Given the description of an element on the screen output the (x, y) to click on. 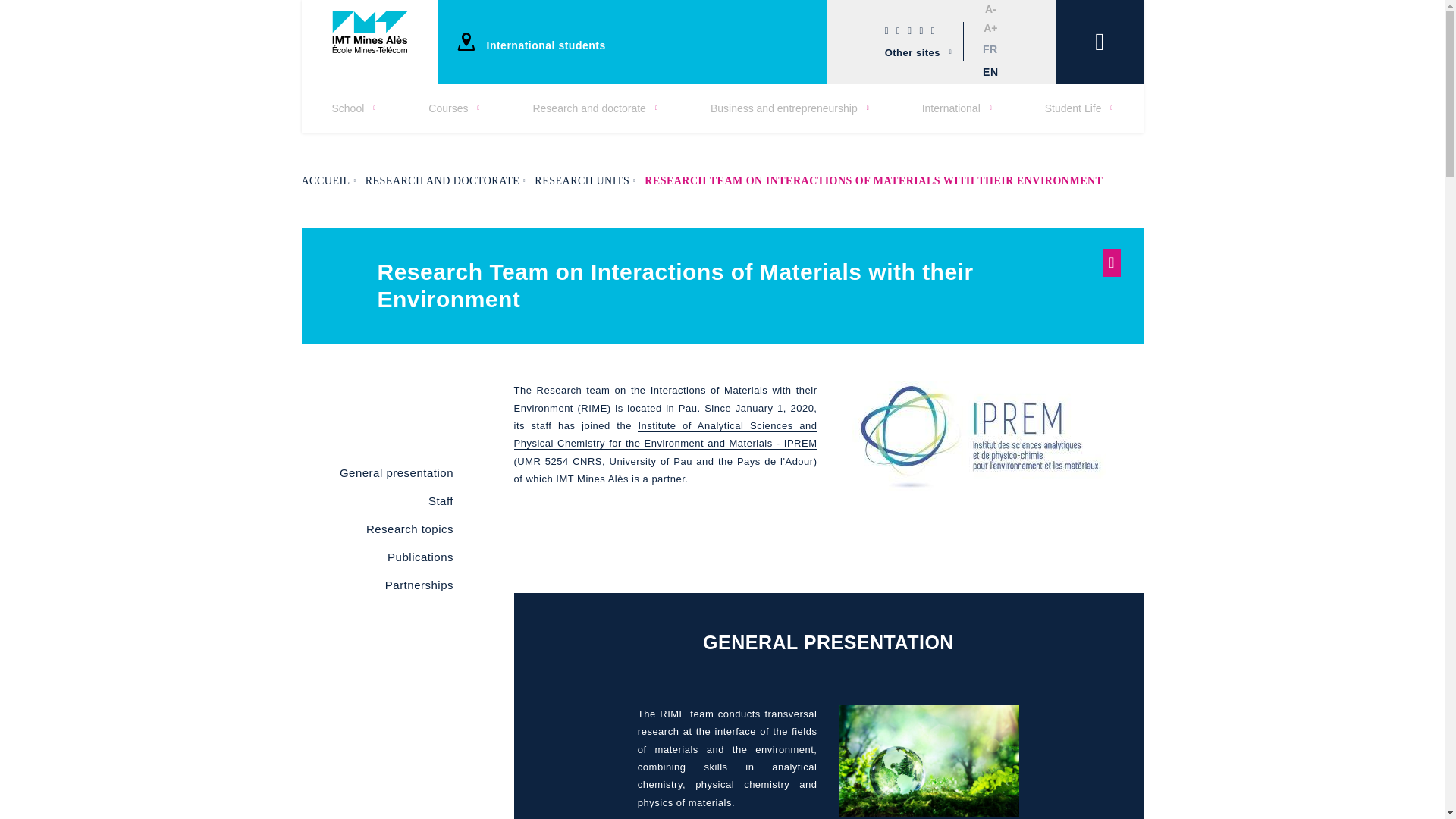
EN (990, 72)
FR (990, 48)
A- (990, 9)
Other sites (912, 52)
Appliquer (58, 16)
International students (545, 45)
School (353, 108)
